Given the description of an element on the screen output the (x, y) to click on. 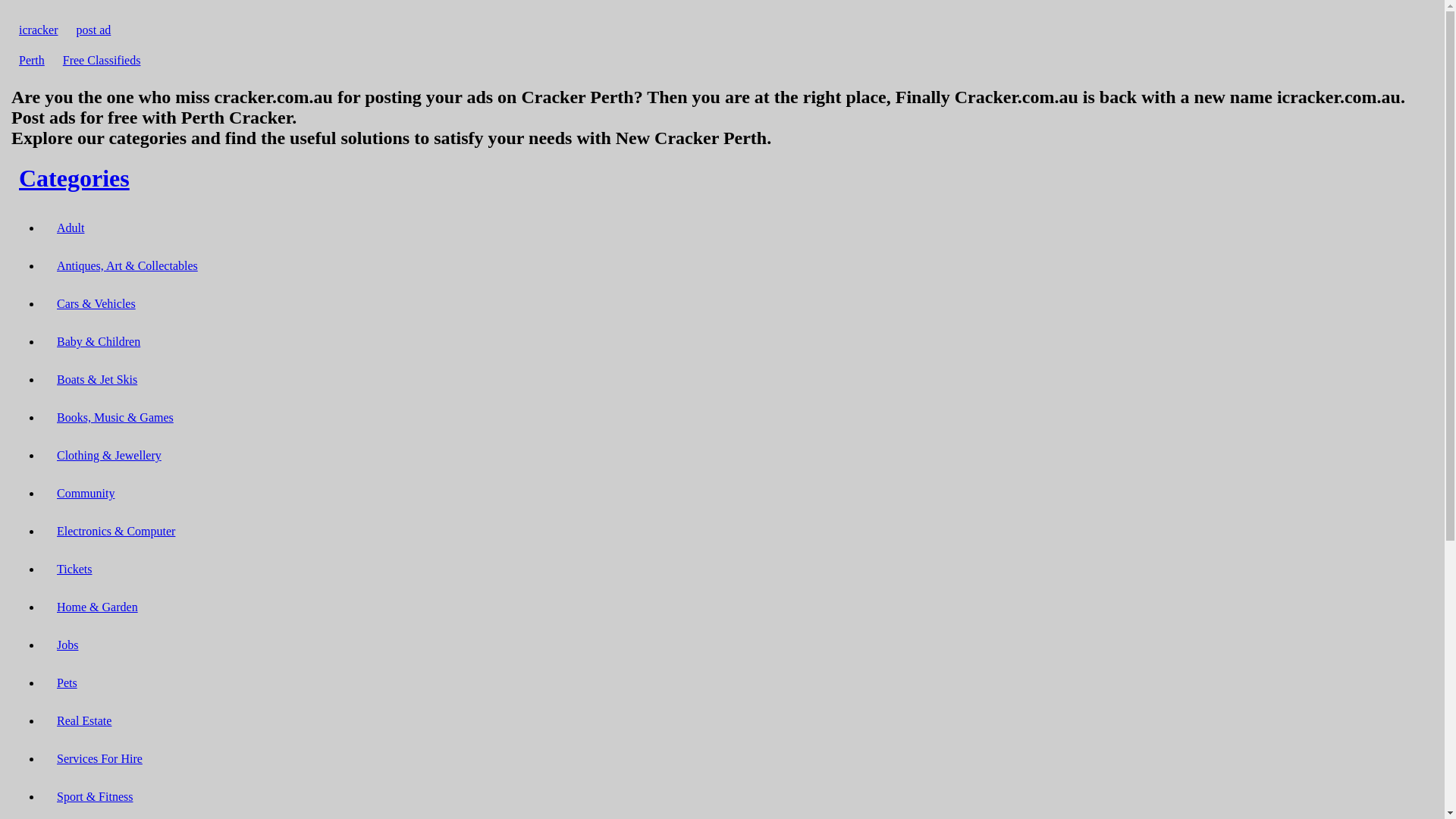
Community Element type: text (85, 493)
Real Estate Element type: text (84, 720)
Jobs Element type: text (67, 644)
Free Classifieds Element type: text (101, 60)
Sport & Fitness Element type: text (94, 796)
Boats & Jet Skis Element type: text (96, 379)
Baby & Children Element type: text (98, 341)
Cars & Vehicles Element type: text (96, 303)
Categories Element type: text (74, 177)
Adult Element type: text (70, 227)
Books, Music & Games Element type: text (115, 417)
Perth Element type: text (31, 60)
Clothing & Jewellery Element type: text (109, 455)
Tickets Element type: text (74, 569)
post ad Element type: text (94, 30)
Home & Garden Element type: text (97, 607)
Services For Hire Element type: text (99, 758)
icracker Element type: text (38, 29)
Antiques, Art & Collectables Element type: text (127, 265)
Electronics & Computer Element type: text (115, 531)
Pets Element type: text (66, 682)
